Given the description of an element on the screen output the (x, y) to click on. 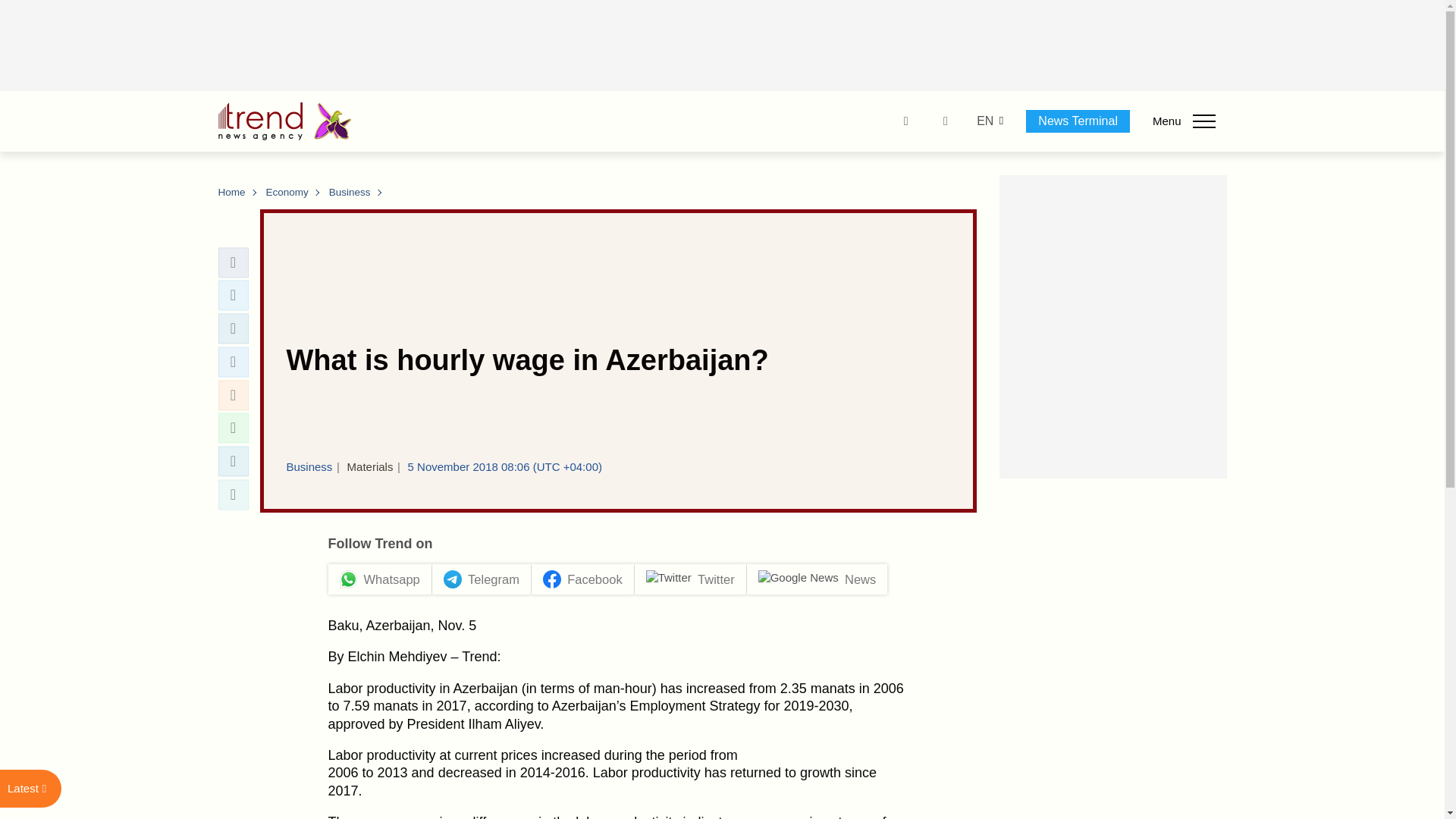
English (984, 121)
News Terminal (1077, 120)
EN (984, 121)
